Given the description of an element on the screen output the (x, y) to click on. 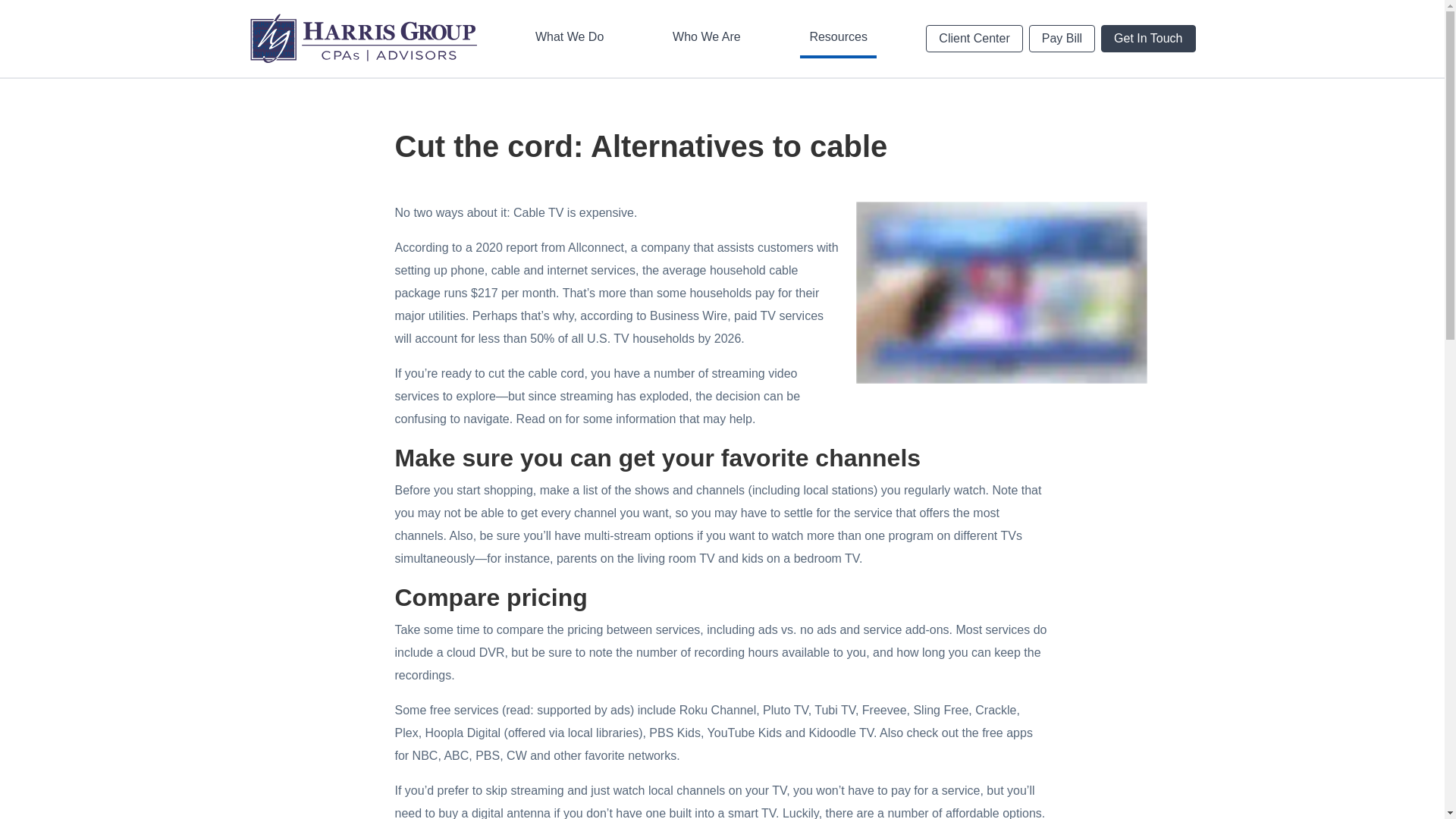
Resources (837, 38)
Get In Touch (1147, 38)
What We Do (568, 38)
Who We Are (706, 38)
Pay Bill (1061, 38)
Client Center (974, 38)
